Given the description of an element on the screen output the (x, y) to click on. 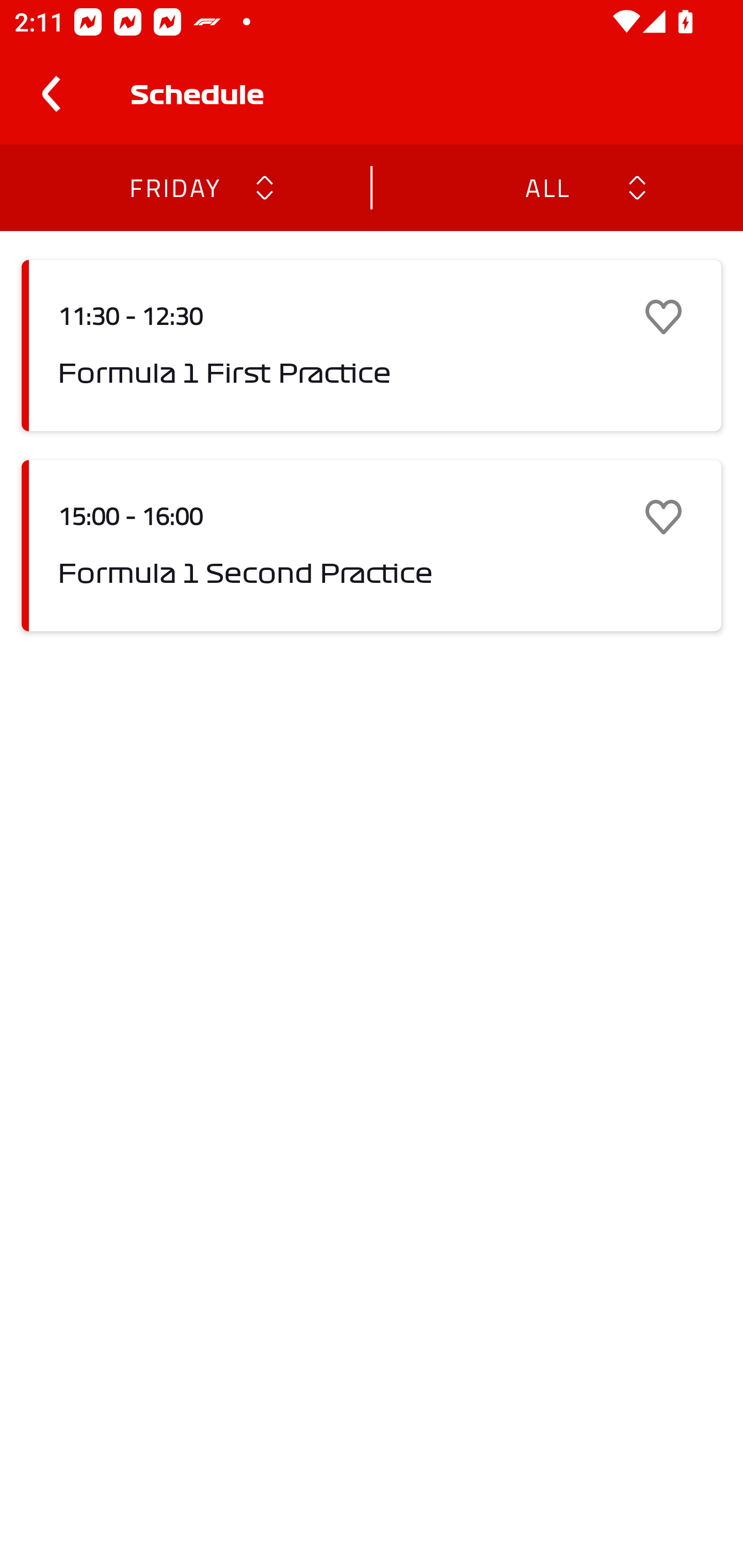
Navigate up (50, 93)
FRIDAY (174, 187)
ALL (546, 187)
11:30 - 12:30 Formula 1 First Practice (371, 345)
15:00 - 16:00 Formula 1 Second Practice (371, 545)
